Given the description of an element on the screen output the (x, y) to click on. 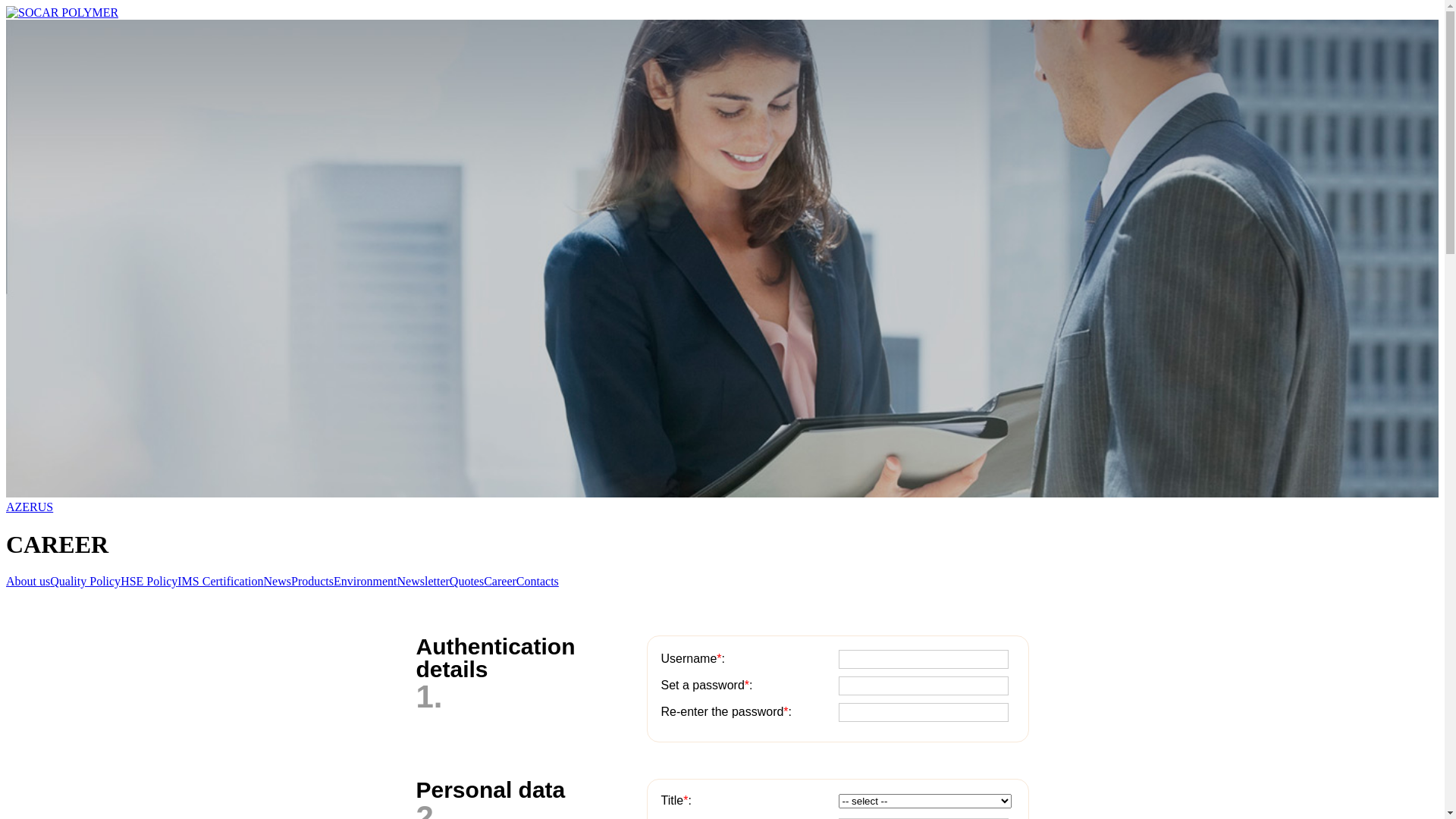
Contacts Element type: text (537, 580)
HSE Policy Element type: text (148, 580)
Products Element type: text (312, 580)
Environment Element type: text (365, 580)
About us Element type: text (28, 580)
AZE Element type: text (17, 506)
Quotes Element type: text (466, 580)
News Element type: text (277, 580)
RUS Element type: text (41, 506)
Career Element type: text (499, 580)
Newsletter Element type: text (423, 580)
IMS Certification Element type: text (220, 580)
Quality Policy Element type: text (85, 580)
